Given the description of an element on the screen output the (x, y) to click on. 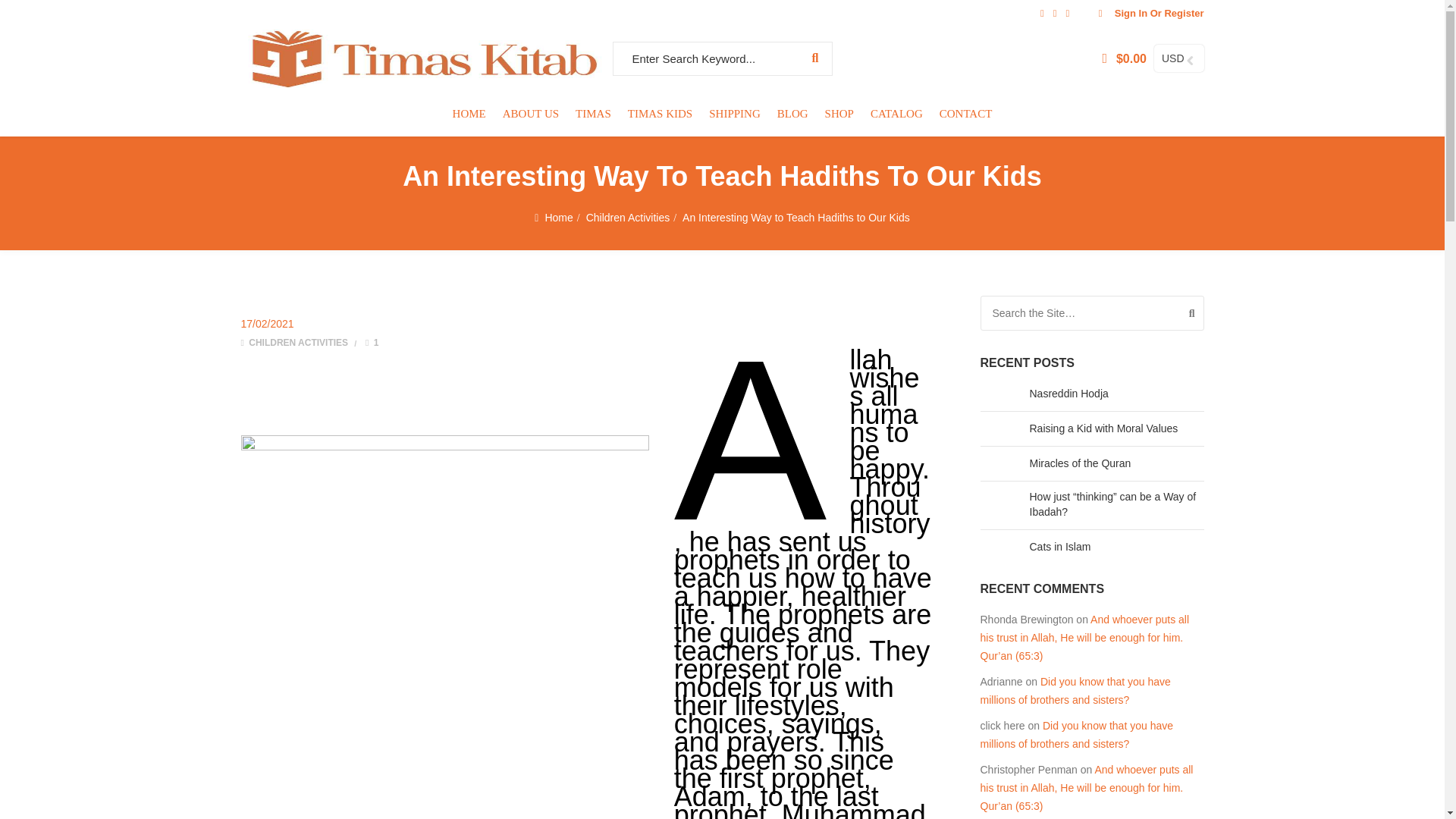
3:24 pm (267, 323)
SHIPPING (734, 113)
Sign In Or Register (1146, 12)
Raising a Kid with Moral Values (1103, 427)
1 (371, 342)
Home (558, 217)
TIMAS KIDS (660, 113)
Home (558, 217)
CATALOG (896, 113)
TIMAS (593, 113)
